Given the description of an element on the screen output the (x, y) to click on. 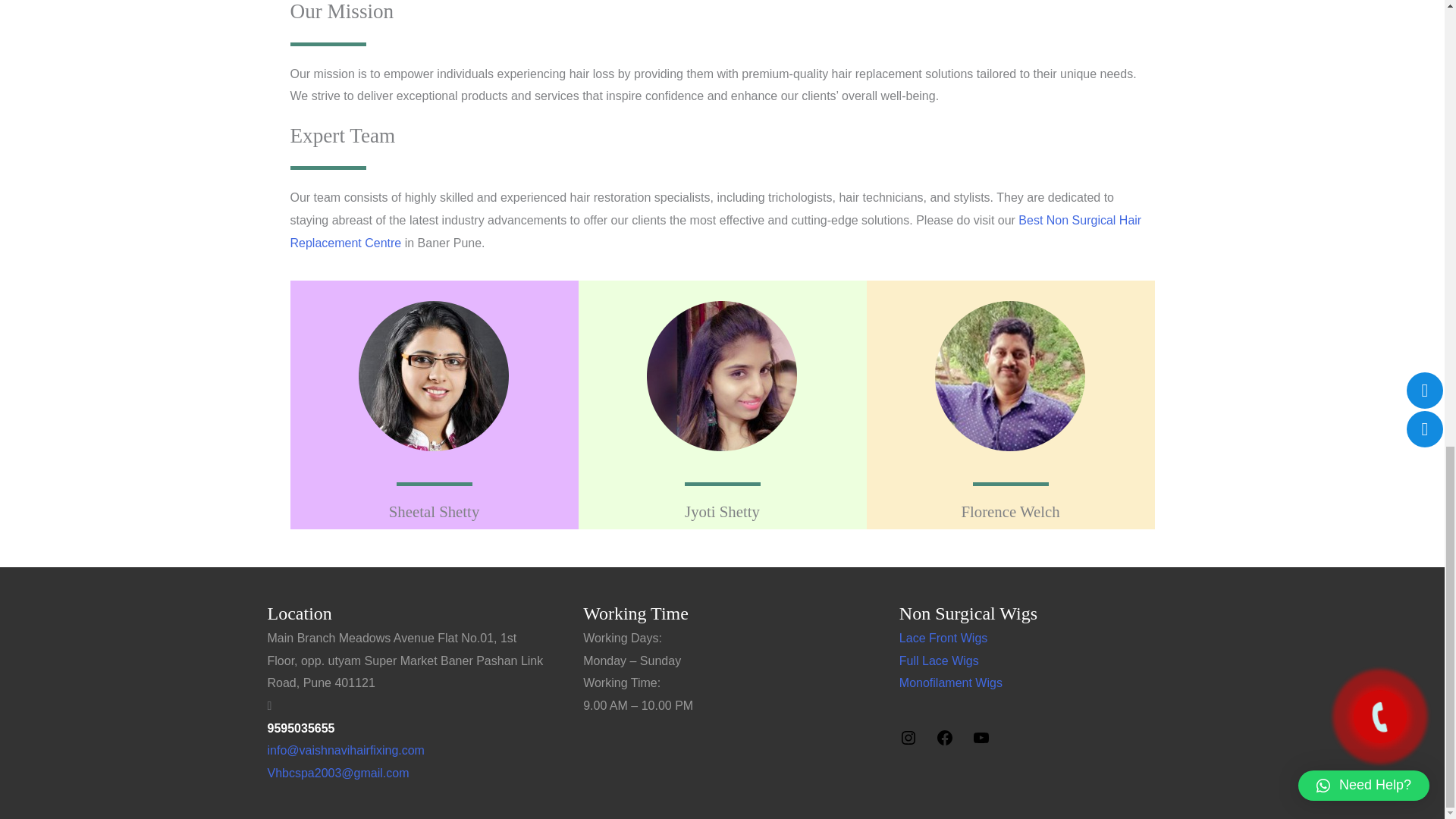
Lace Front Wigs (943, 637)
Best Non Surgical Hair Replacement Centre (715, 231)
Full Lace Wigs (938, 660)
9595035655 (300, 727)
